Given the description of an element on the screen output the (x, y) to click on. 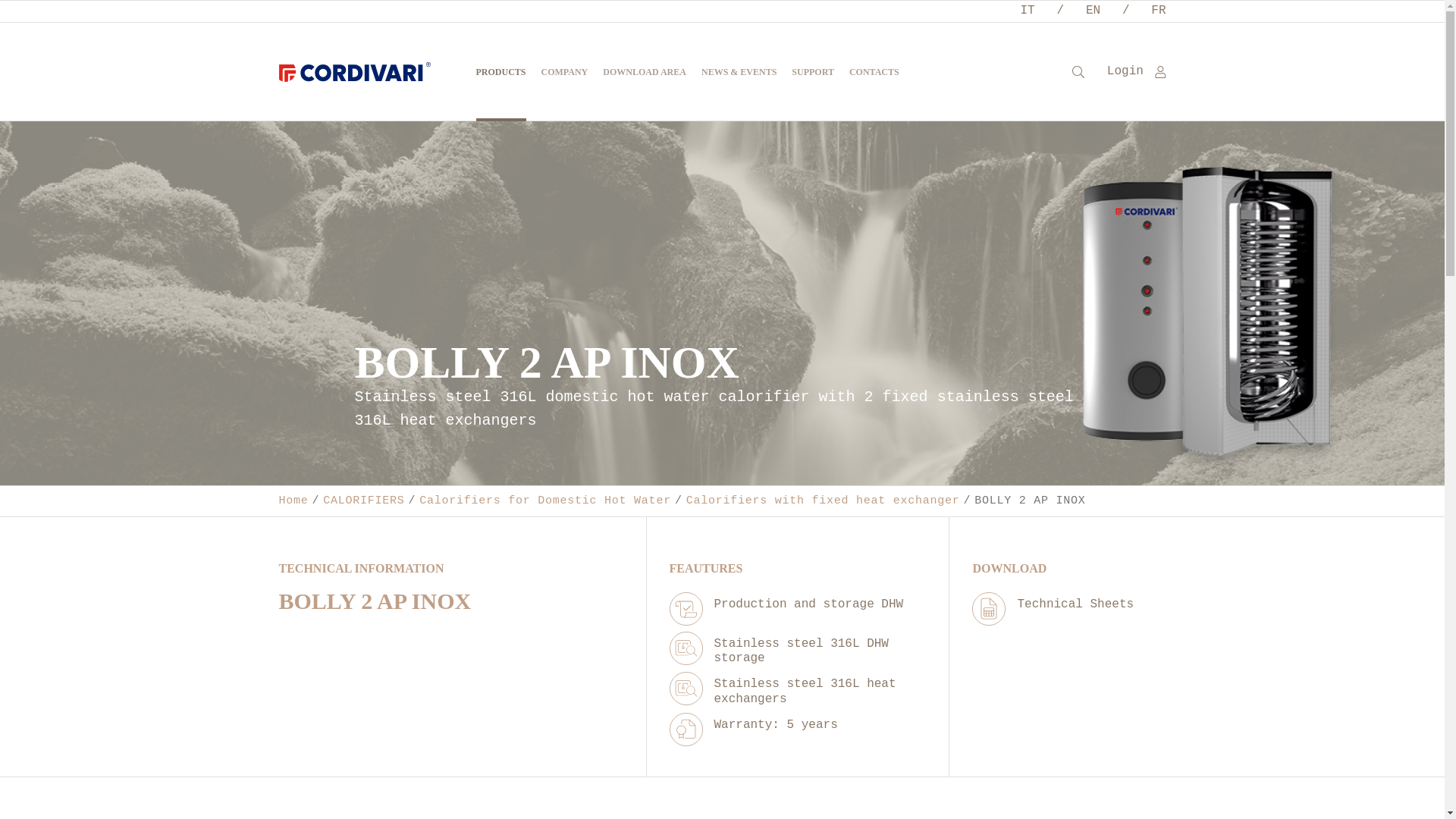
FR (1158, 10)
EN (1093, 10)
Login (1136, 71)
IT (1026, 10)
Cordivari (354, 71)
